Given the description of an element on the screen output the (x, y) to click on. 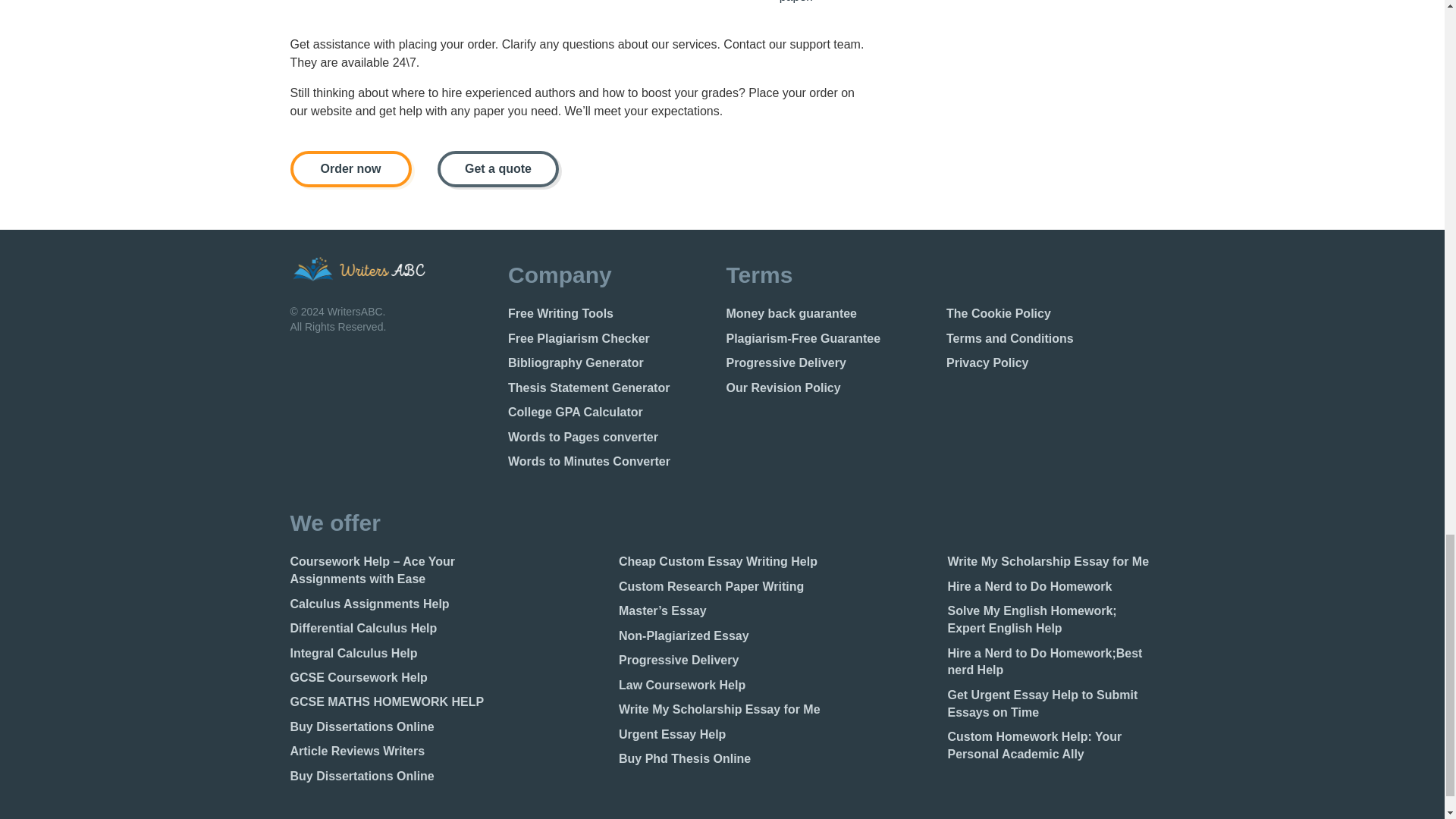
Order now (349, 168)
Calculus Assignments Help (392, 604)
Terms and Conditions (1050, 339)
Bibliography Generator (611, 363)
Thesis Statement Generator (611, 388)
Privacy Policy (1050, 363)
College GPA Calculator (611, 412)
Words to Minutes Converter (611, 461)
Free Writing Tools (611, 313)
Words to Pages converter (611, 437)
The Cookie Policy (1050, 313)
Our Revision Policy (830, 388)
GCSE MATHS HOMEWORK HELP (392, 702)
Money back guarantee (830, 313)
Plagiarism-Free Guarantee (830, 339)
